Given the description of an element on the screen output the (x, y) to click on. 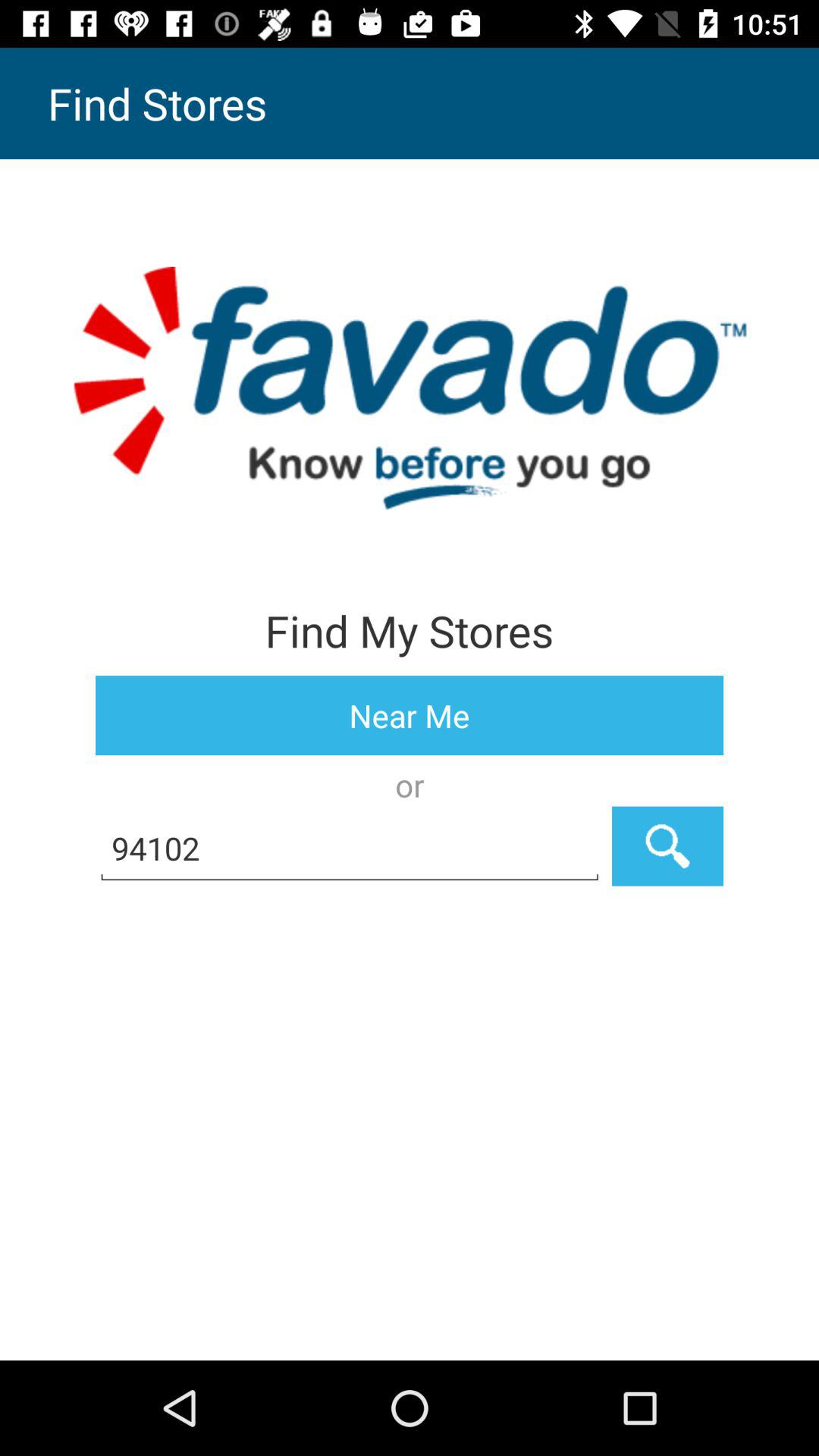
choose item below the or (667, 846)
